Given the description of an element on the screen output the (x, y) to click on. 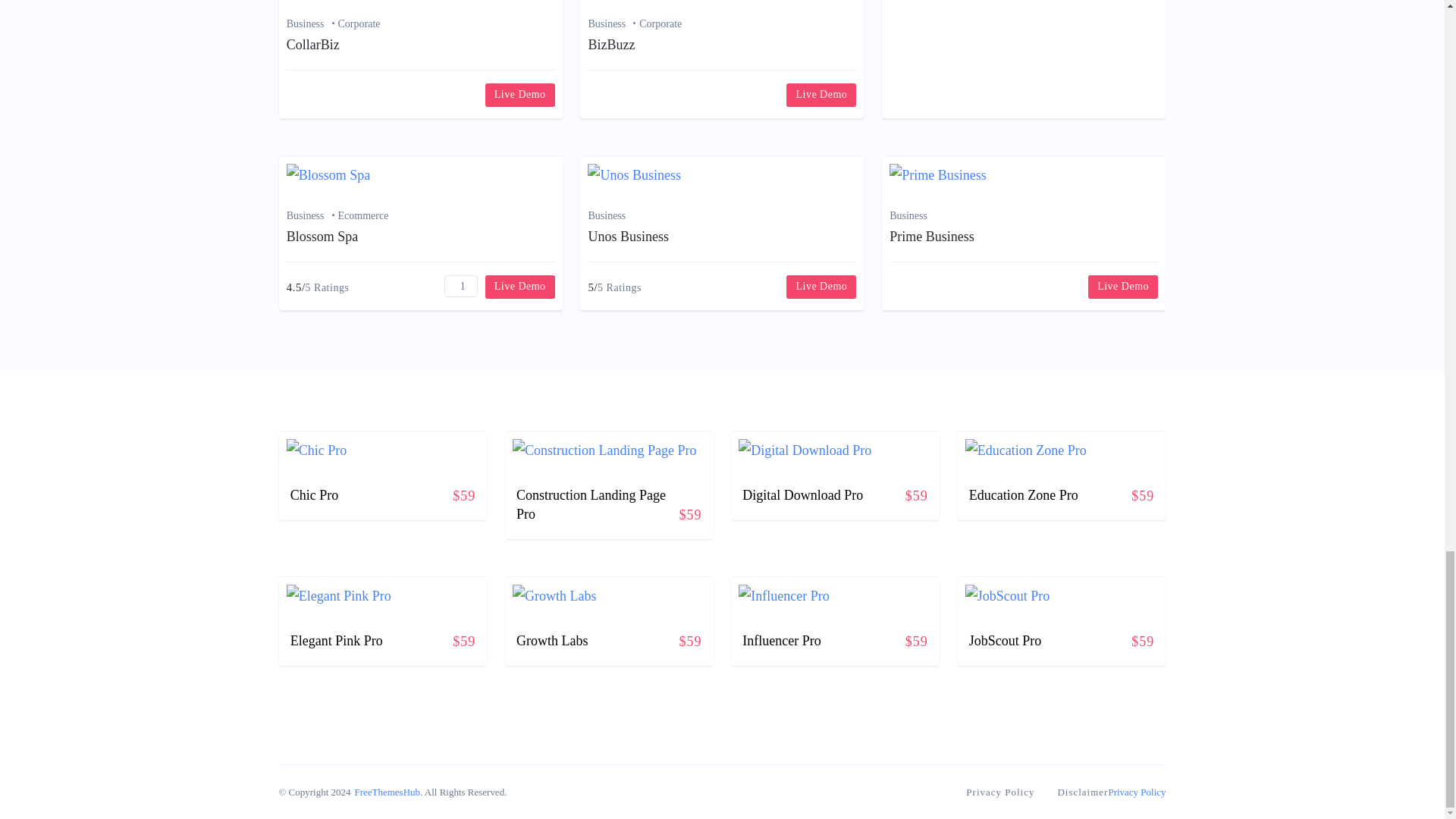
Corporate (660, 24)
Live Demo (821, 95)
BizBuzz (611, 44)
Business (311, 24)
Live Demo (519, 95)
CollarBiz (312, 44)
Business (613, 24)
Corporate (358, 24)
